Given the description of an element on the screen output the (x, y) to click on. 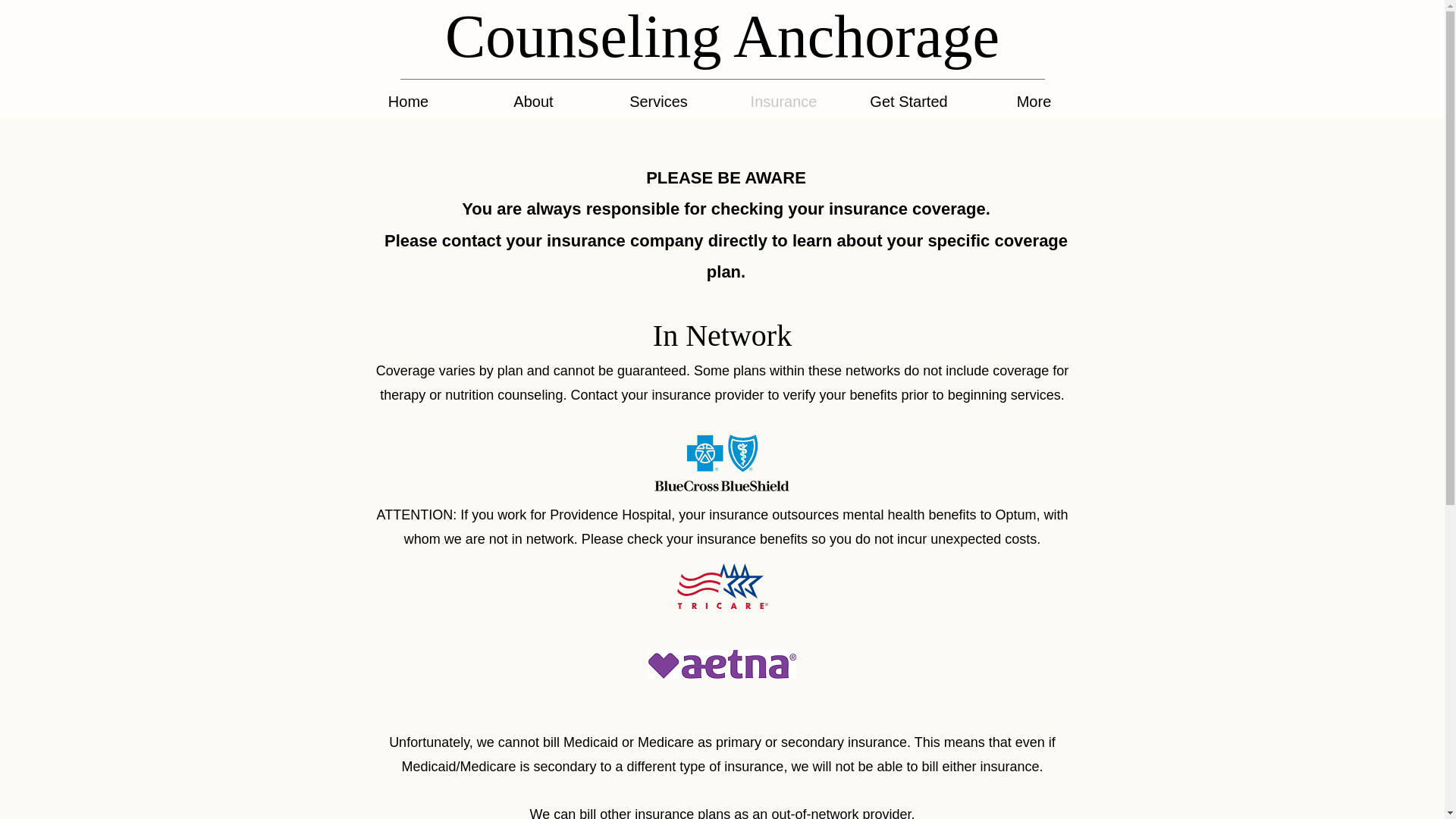
Get Started (908, 99)
Home (408, 99)
About (532, 99)
Services (657, 99)
Insurance (782, 99)
